Given the description of an element on the screen output the (x, y) to click on. 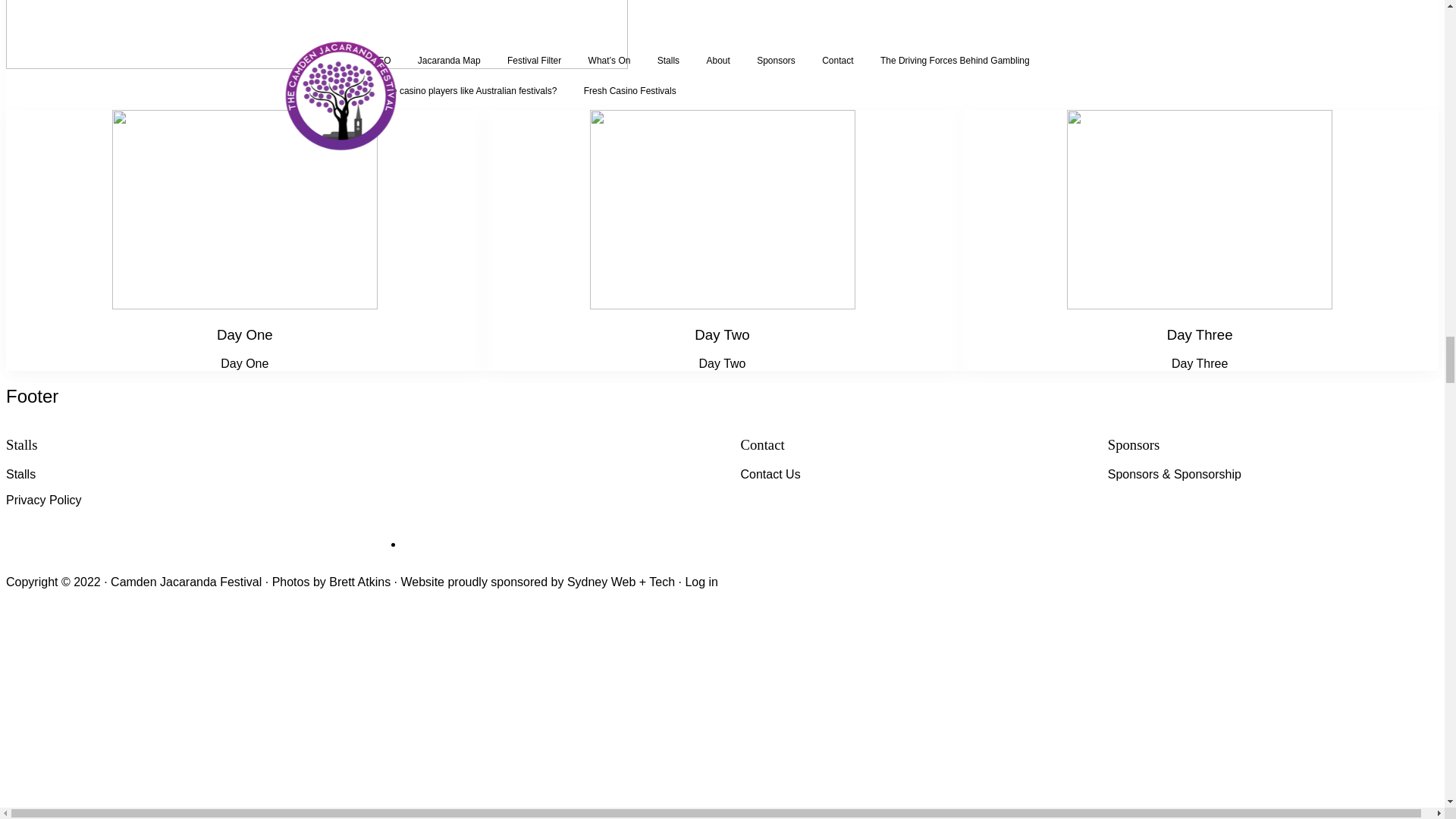
Day Three (1200, 334)
Day Three (1200, 334)
Day One (244, 334)
Day Three (1199, 364)
Day Two (721, 364)
Facebook (516, 490)
Day Two (721, 334)
Day Two (721, 334)
Day One (244, 334)
Day One (244, 364)
